Given the description of an element on the screen output the (x, y) to click on. 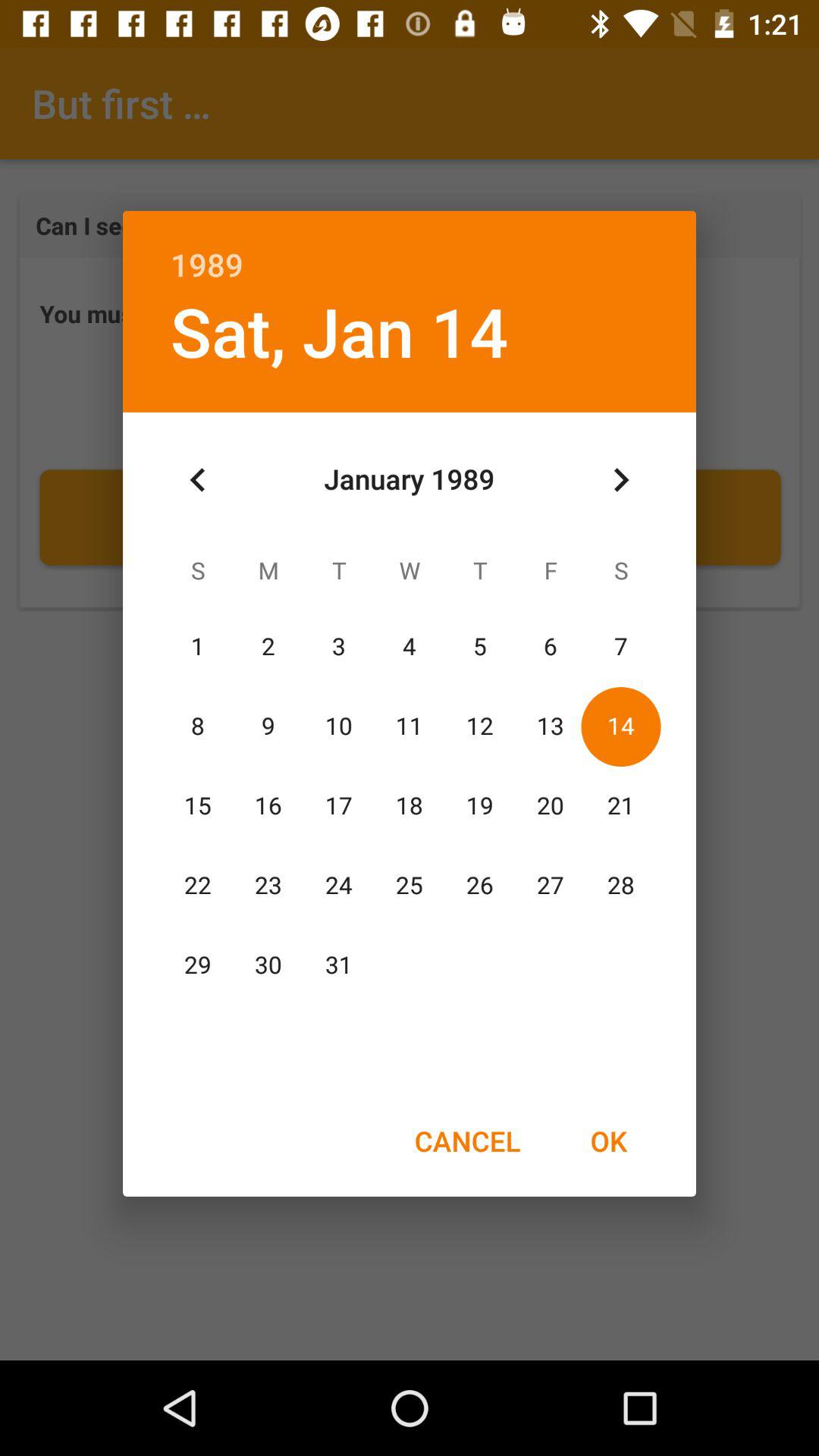
click icon below sat, jan 14 (197, 479)
